Given the description of an element on the screen output the (x, y) to click on. 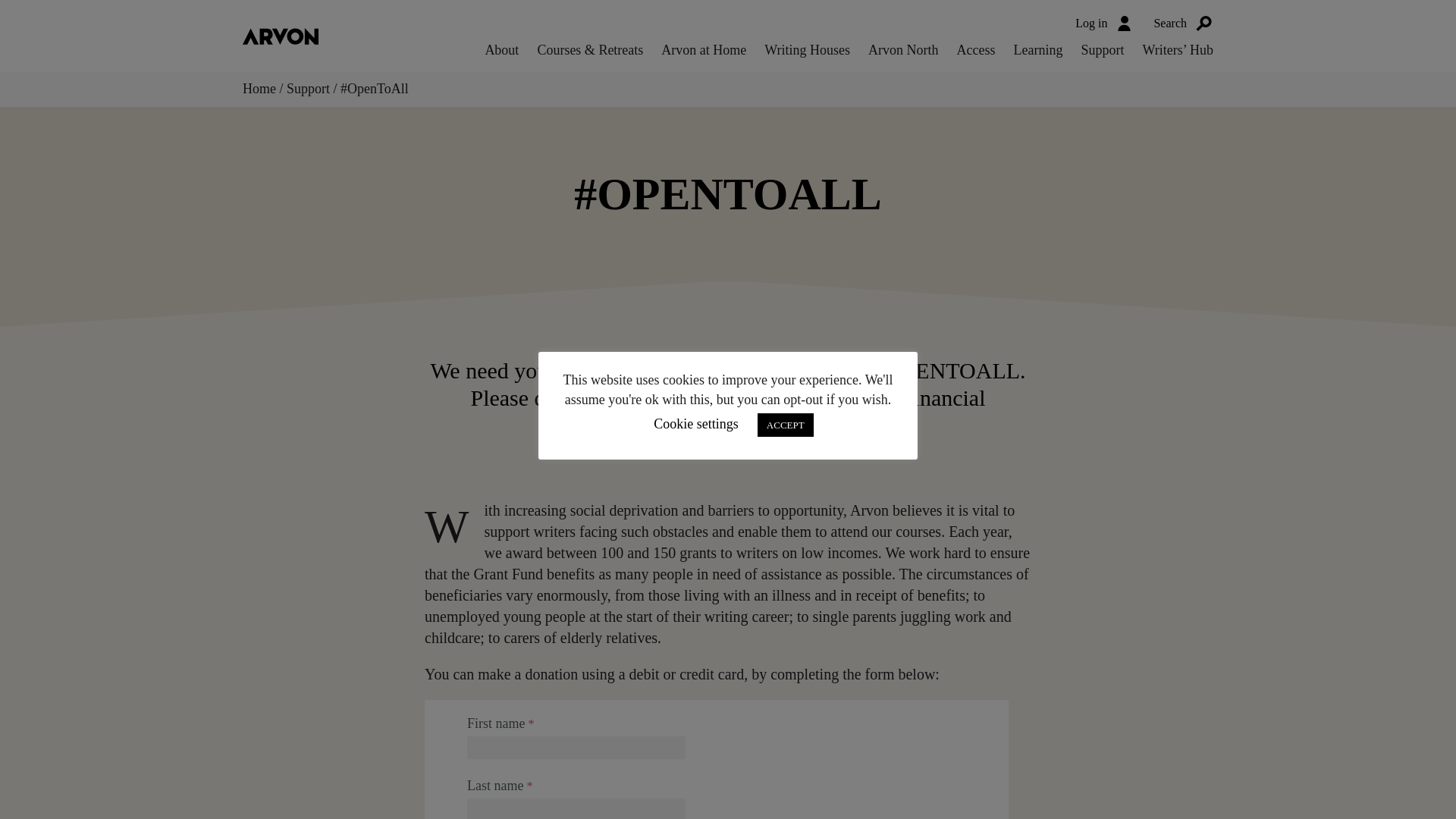
Arvon at Home (703, 49)
Search (1182, 22)
About (501, 49)
Log in (1104, 22)
Arvon North (903, 49)
Log in (1104, 22)
Last name (576, 808)
Access (975, 49)
First name (576, 747)
Learning (1037, 49)
Writing Houses (807, 49)
